Given the description of an element on the screen output the (x, y) to click on. 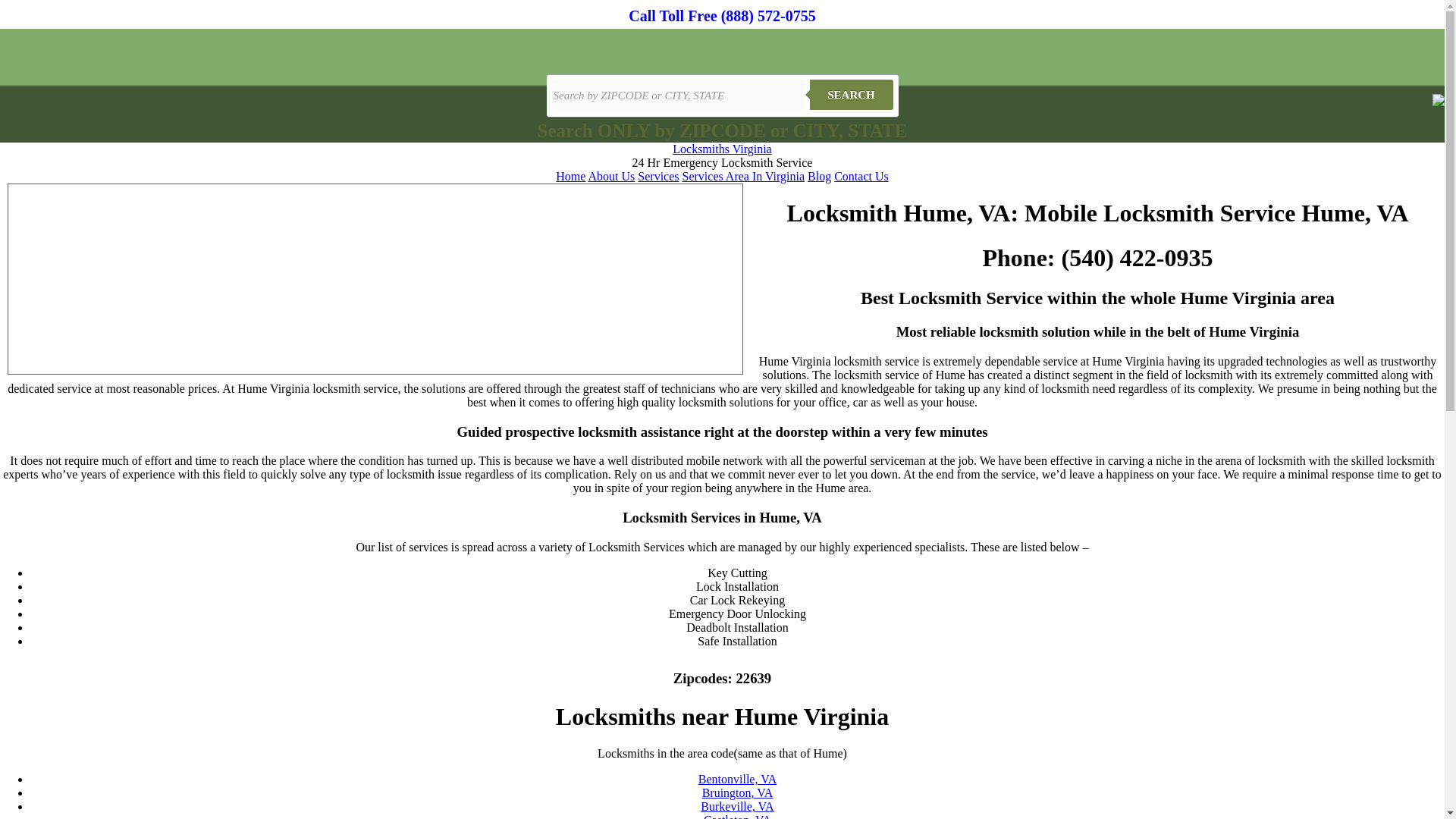
Services (657, 175)
Contact Us (861, 175)
Bruington, VA (737, 792)
Home (570, 175)
SEARCH (851, 94)
Burkeville, VA (736, 806)
Services Area In Virginia (743, 175)
Blog (819, 175)
About Us (611, 175)
Bentonville, VA (737, 779)
Locksmiths Virginia (721, 148)
Castleton, VA (737, 816)
